Given the description of an element on the screen output the (x, y) to click on. 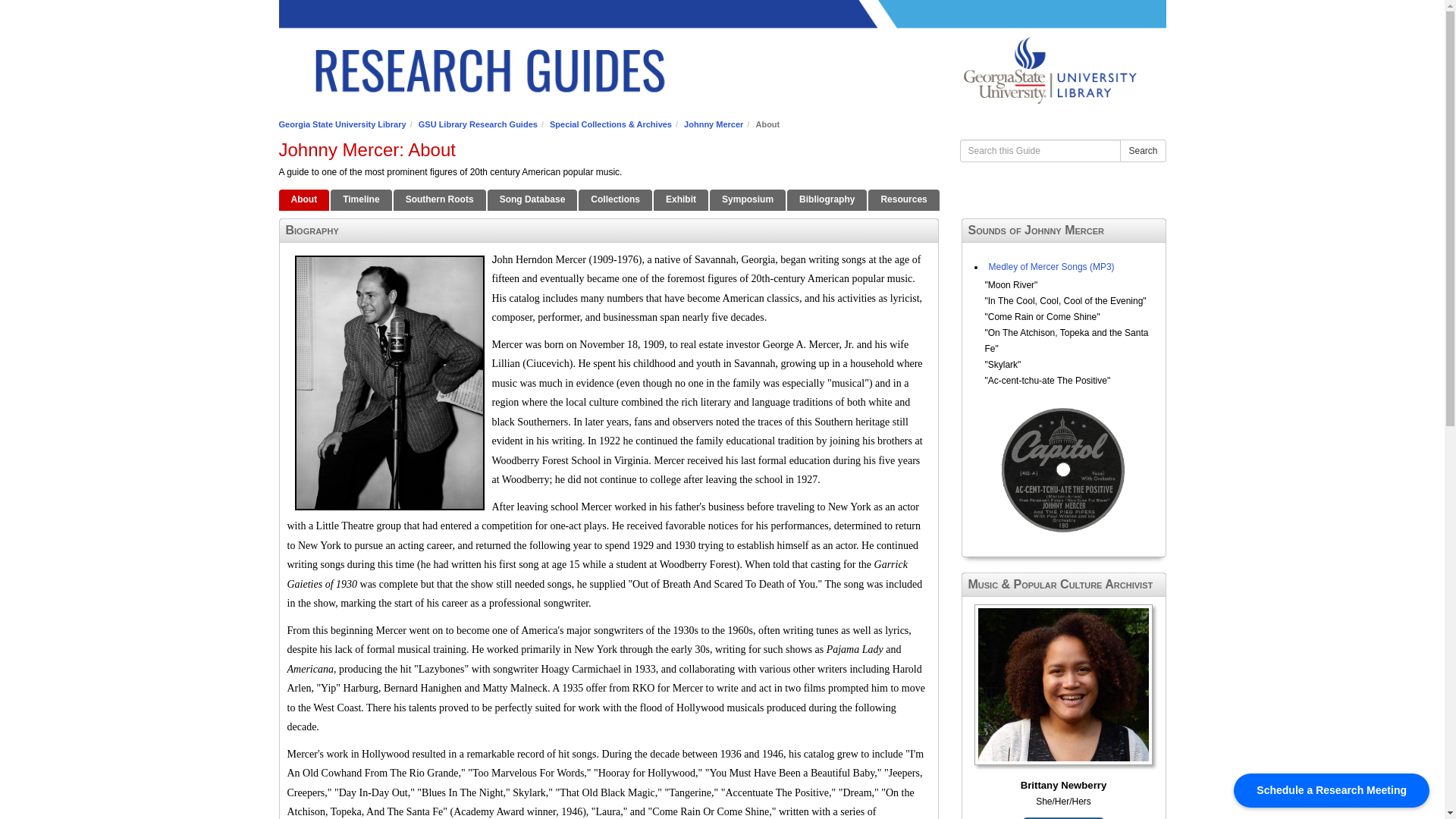
Southern Roots (439, 199)
Georgia State University Library (342, 123)
Brittany Newberry (1063, 698)
Symposium (748, 199)
About (304, 199)
Search (1142, 150)
Timeline (360, 199)
Johnny Mercer (713, 123)
Collections (615, 199)
Bibliography (826, 199)
GSU Library Research Guides (478, 123)
Song Database (532, 199)
Email Me (1063, 818)
Resources (903, 199)
Exhibit (680, 199)
